Given the description of an element on the screen output the (x, y) to click on. 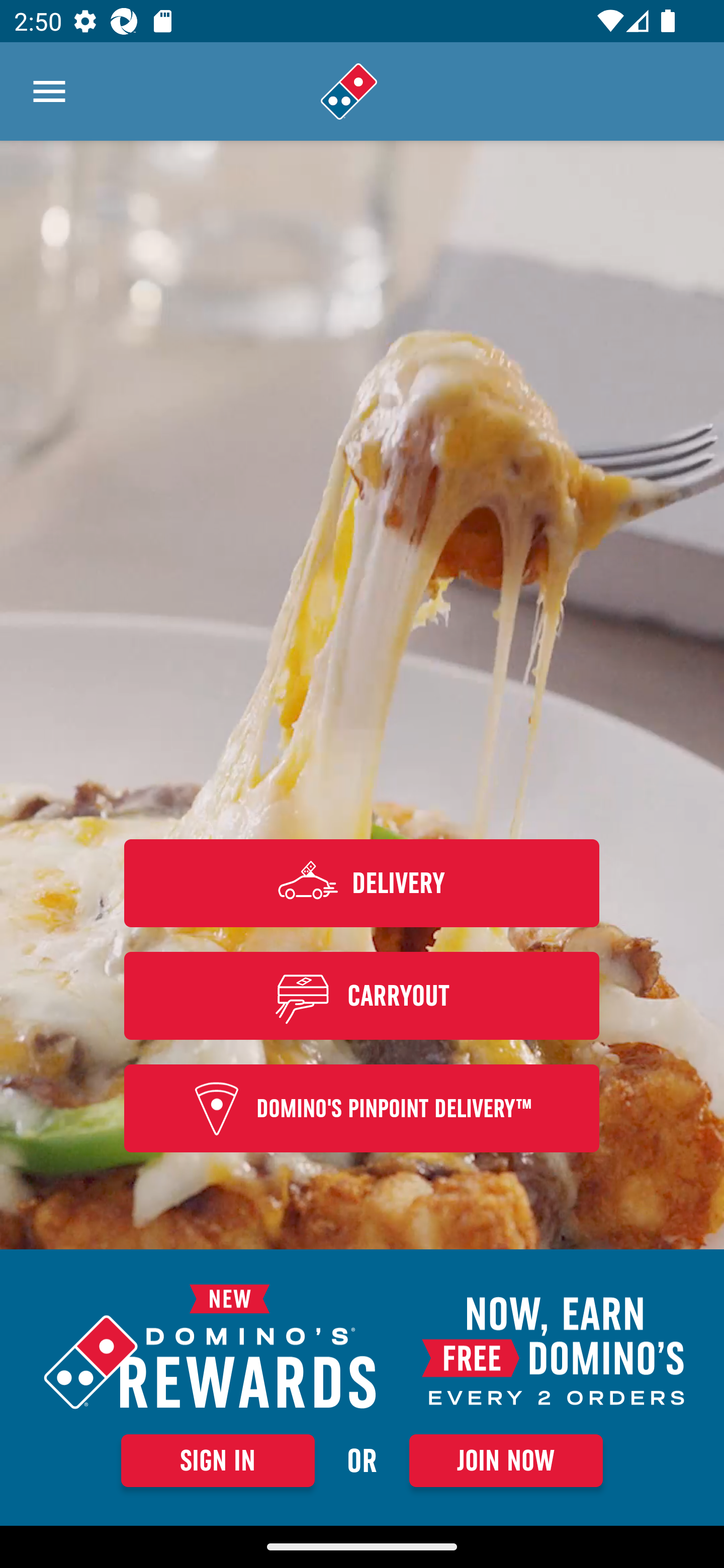
Expand Menu (49, 91)
DELIVERY (361, 882)
CARRYOUT (361, 995)
DOMINO'S PINPOINT DELIVERY™ (361, 1108)
SIGN IN (217, 1460)
JOIN NOW (506, 1460)
